Given the description of an element on the screen output the (x, y) to click on. 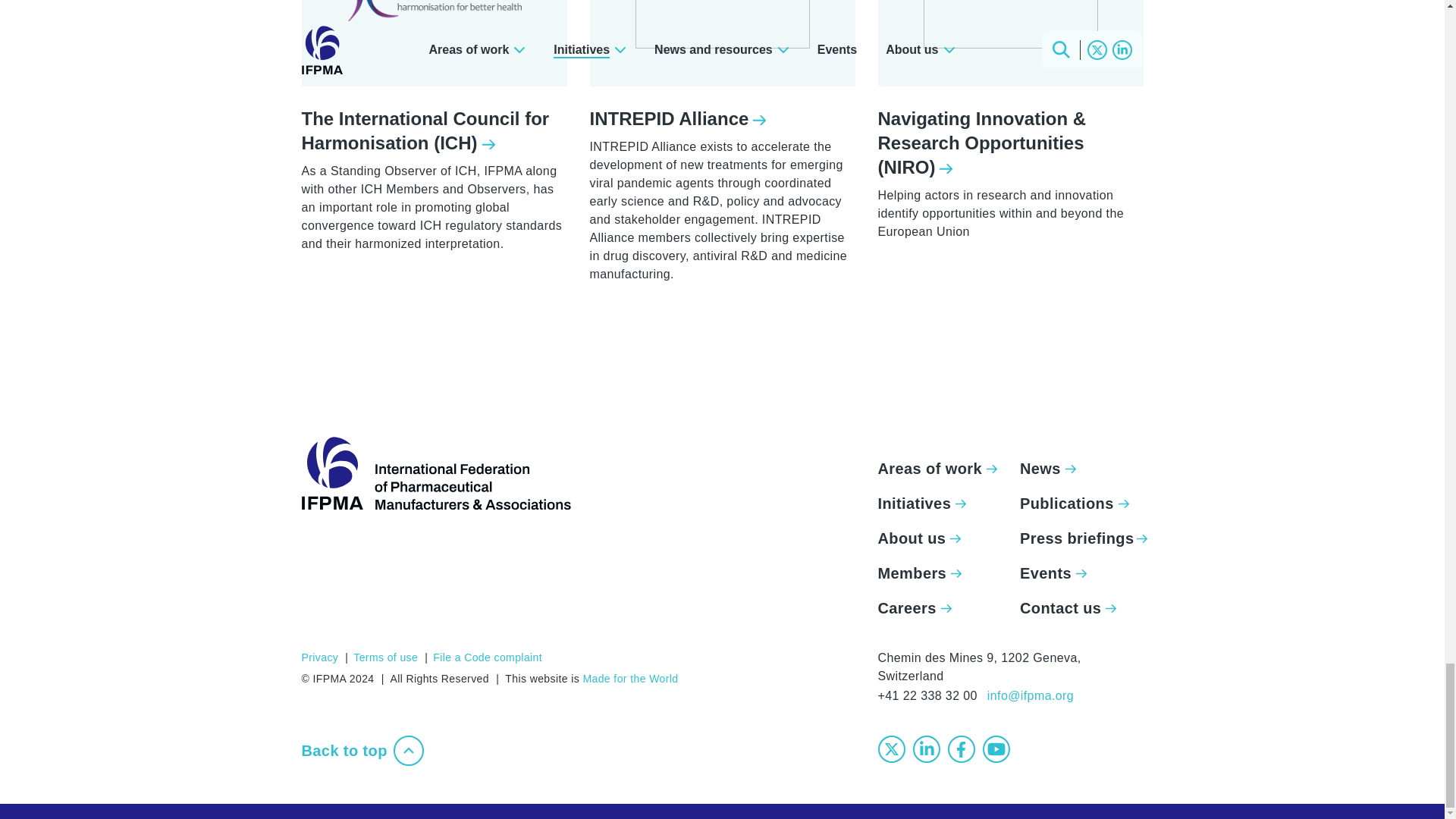
IFPMA (435, 472)
